Given the description of an element on the screen output the (x, y) to click on. 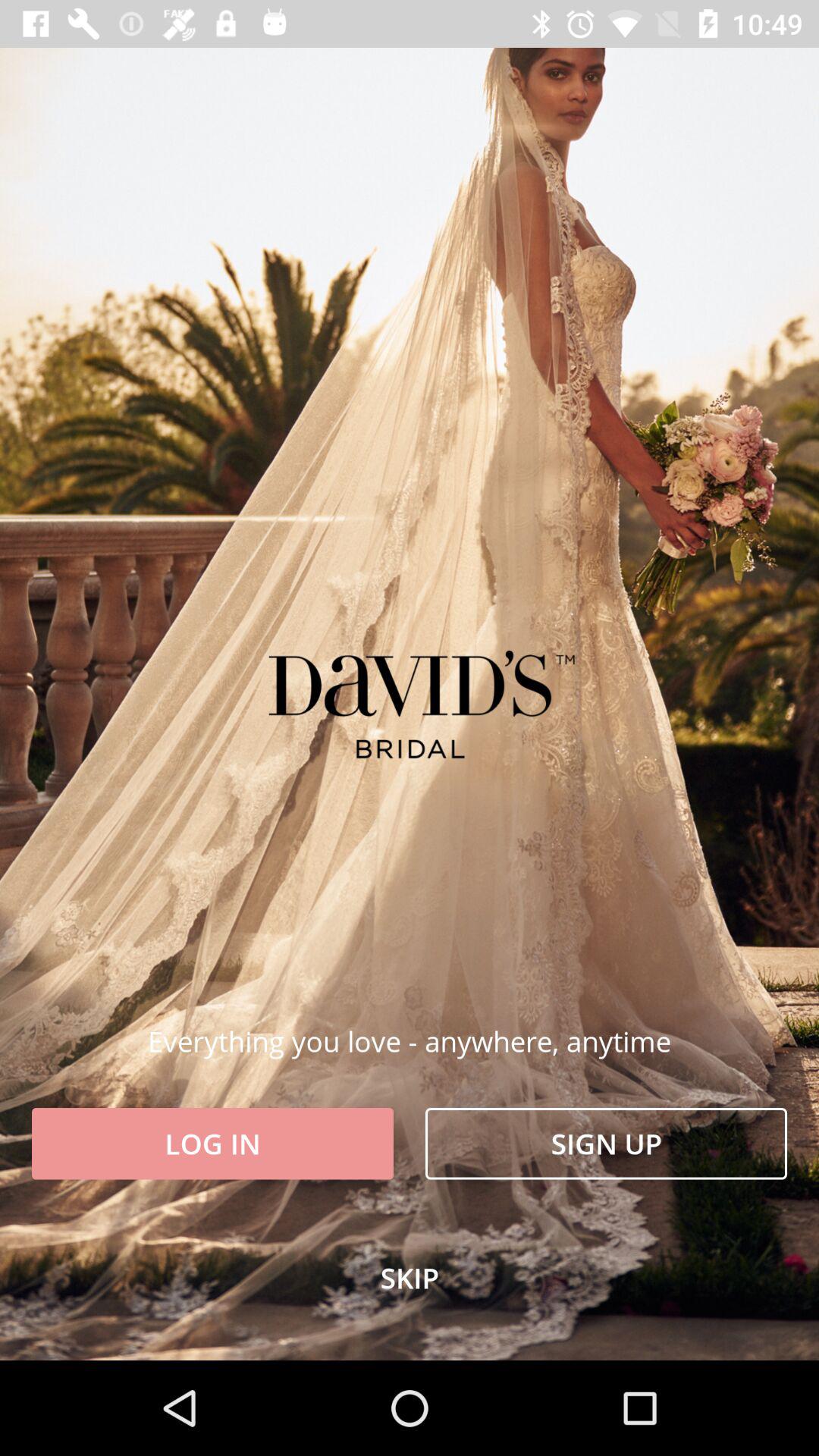
turn on the log in item (212, 1143)
